Given the description of an element on the screen output the (x, y) to click on. 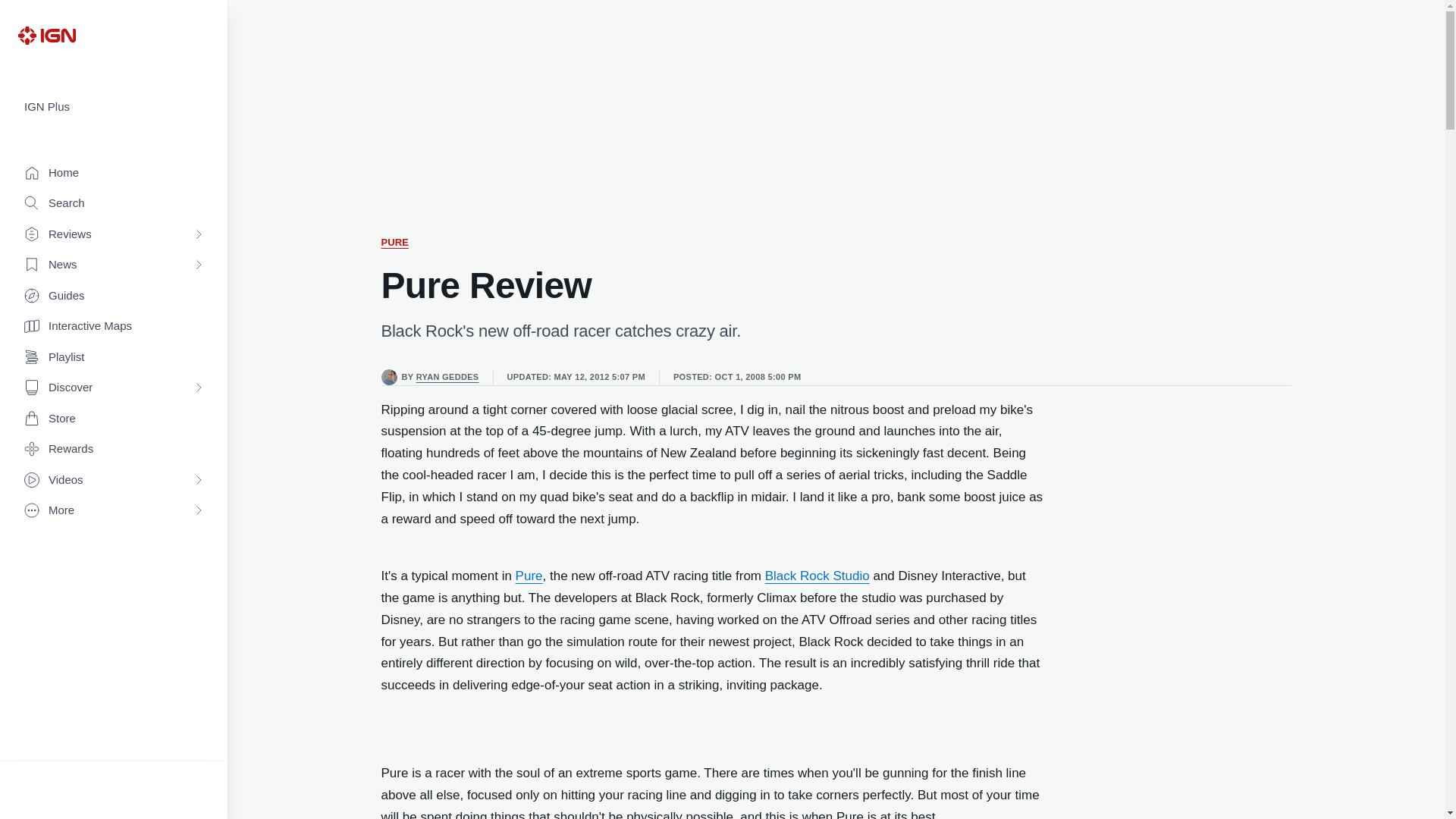
Search (113, 203)
Home (113, 172)
IGN Plus (113, 107)
More (113, 510)
Videos (113, 480)
Reviews (113, 234)
Interactive Maps (113, 326)
Guides (113, 295)
More (113, 510)
Rewards (113, 449)
